Given the description of an element on the screen output the (x, y) to click on. 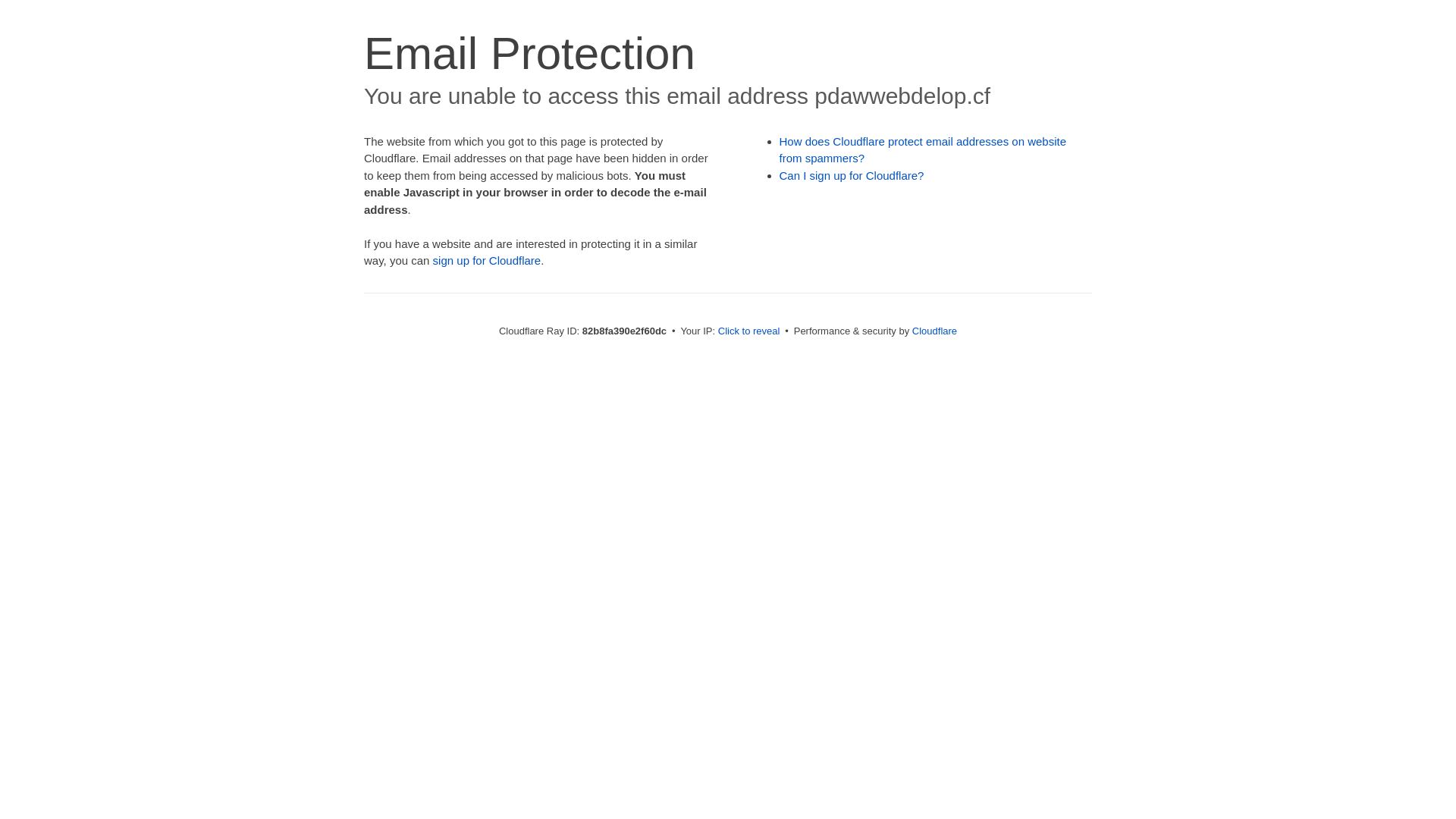
sign up for Cloudflare Element type: text (487, 260)
Cloudflare Element type: text (934, 330)
Can I sign up for Cloudflare? Element type: text (851, 175)
Click to reveal Element type: text (749, 330)
